Given the description of an element on the screen output the (x, y) to click on. 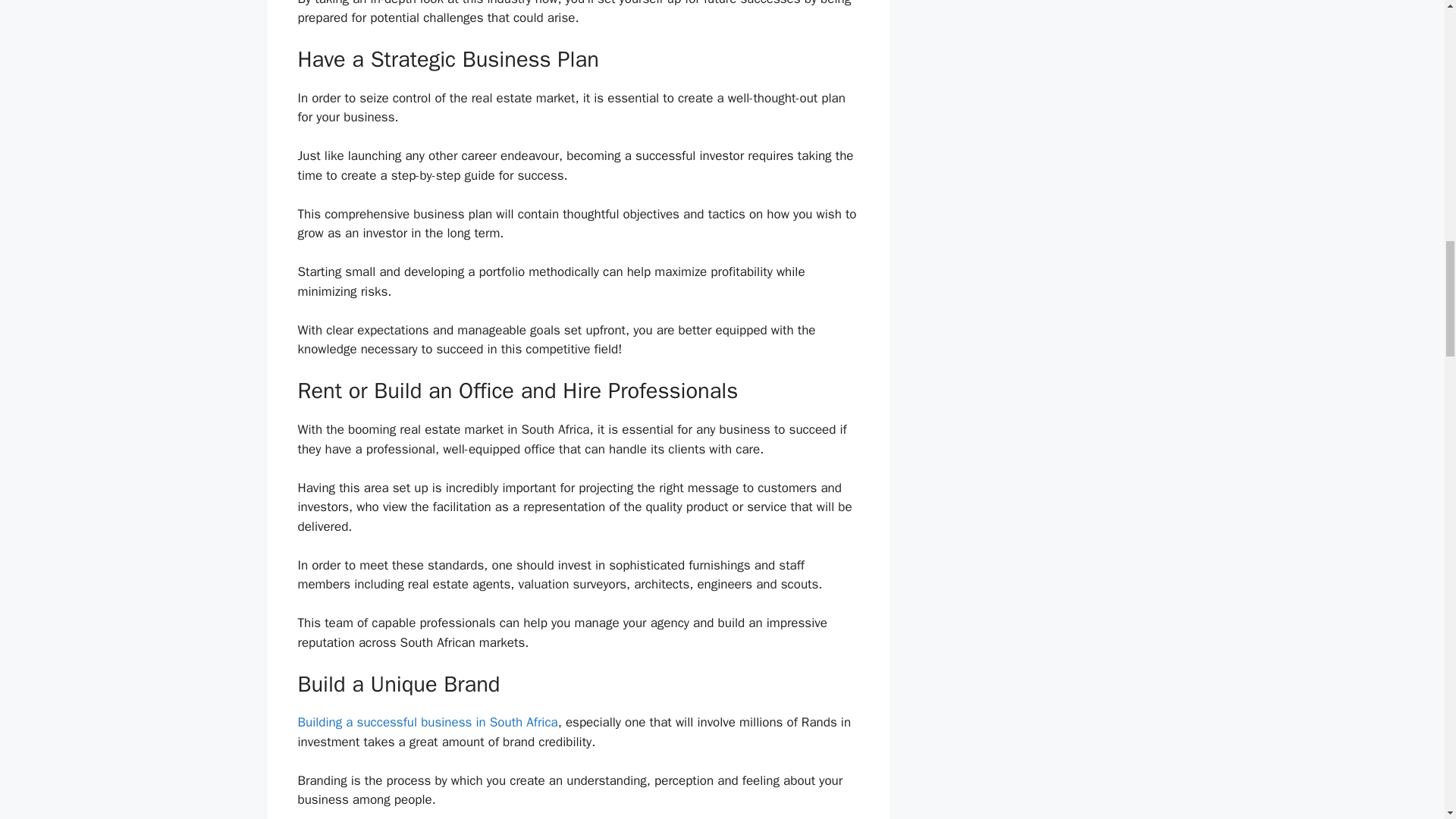
Building a successful business in South Africa (427, 722)
